Given the description of an element on the screen output the (x, y) to click on. 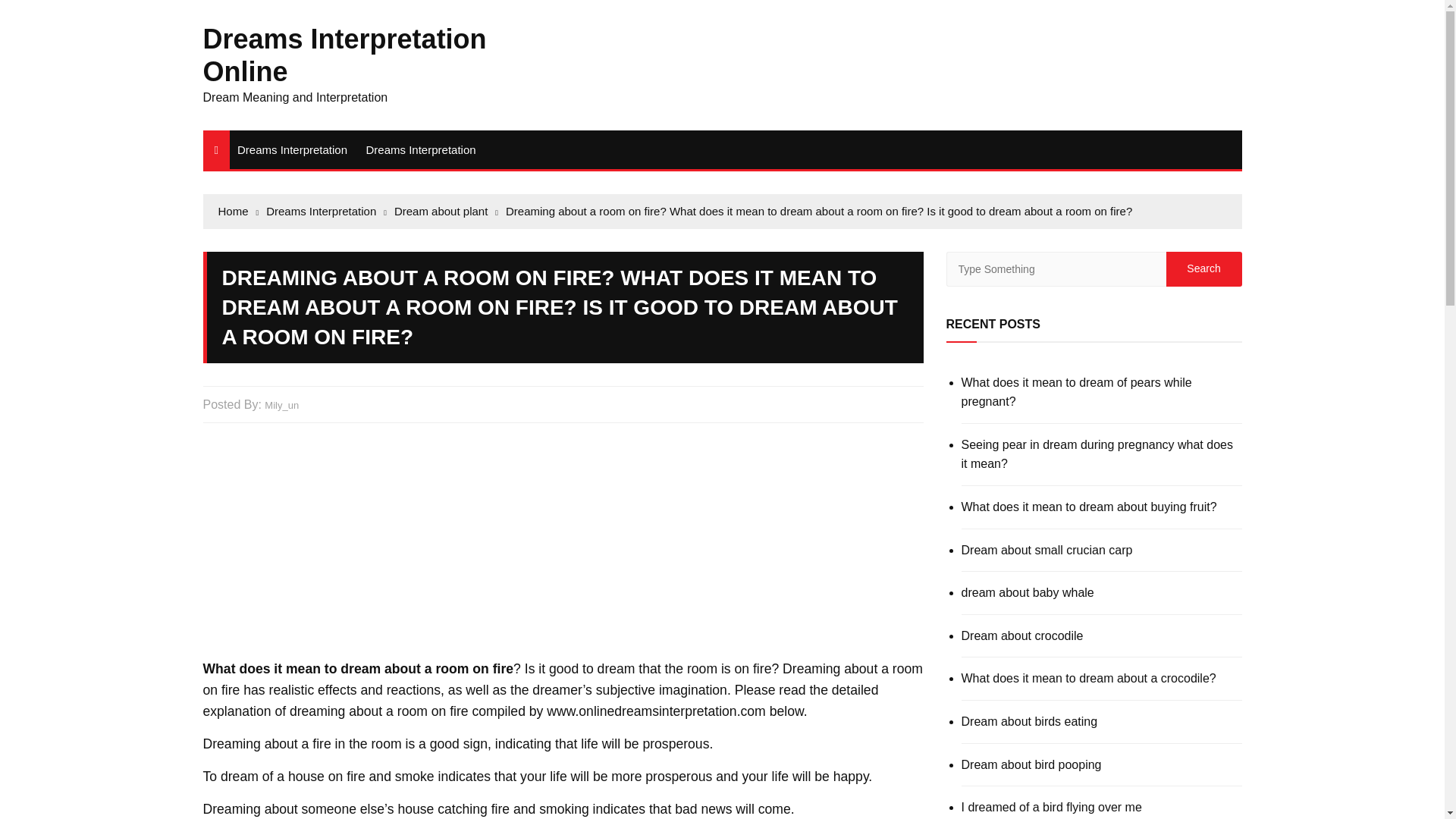
Dreams Interpretation (420, 149)
Dreams Interpretation (292, 149)
Search (1203, 268)
Dreams Interpretation Online (344, 54)
